Given the description of an element on the screen output the (x, y) to click on. 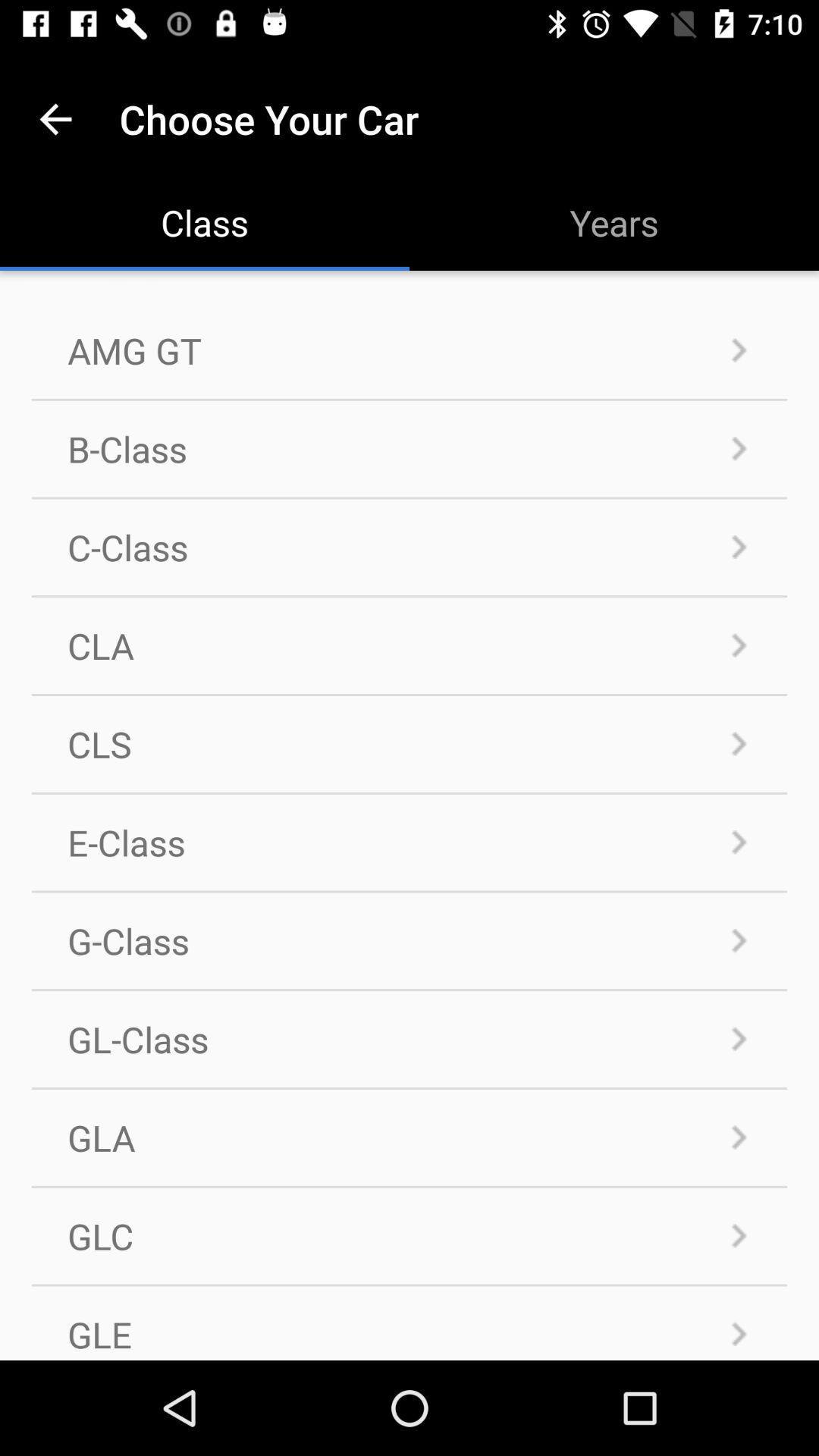
launch item to the left of choose your car app (55, 119)
